Given the description of an element on the screen output the (x, y) to click on. 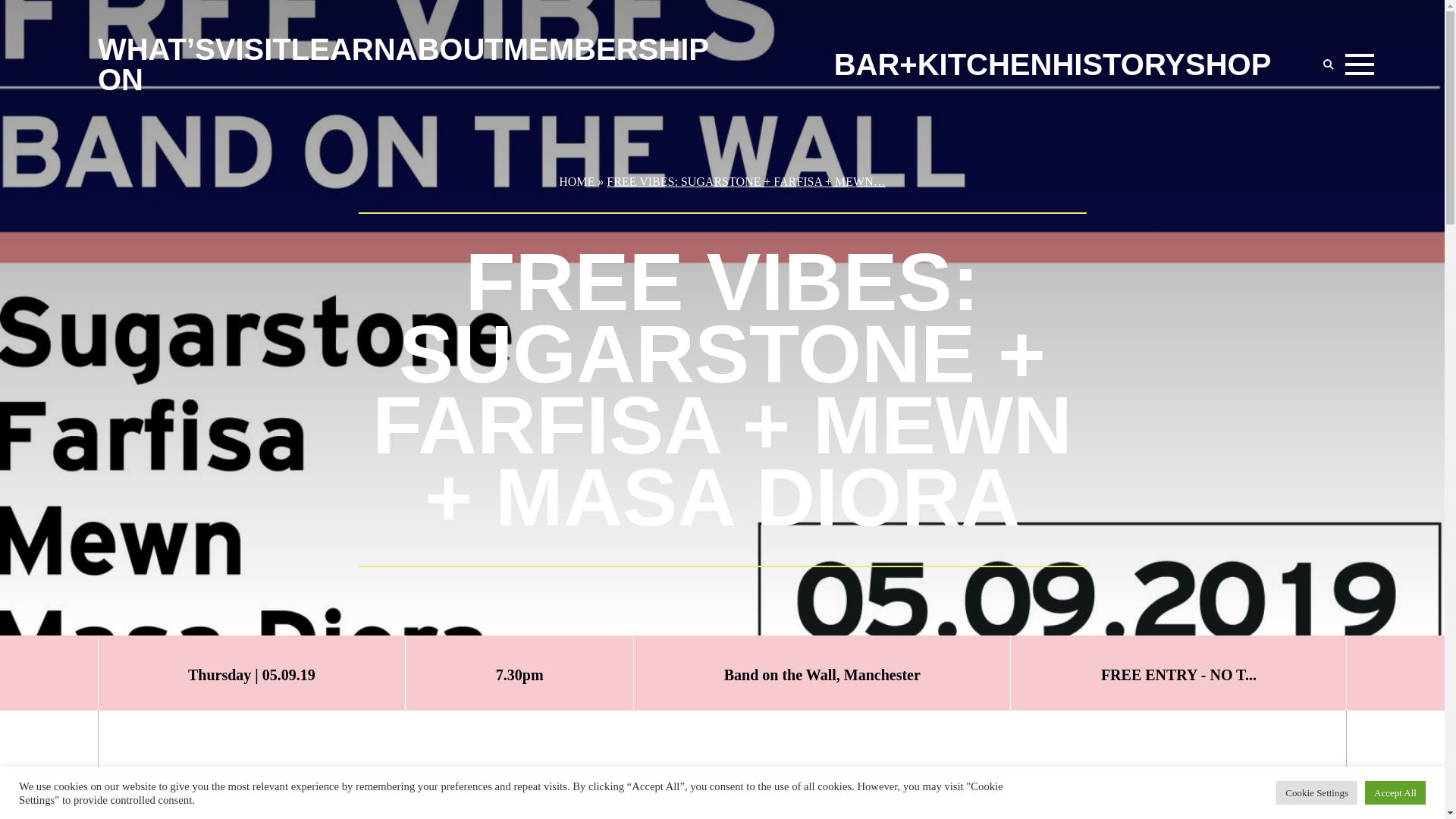
HISTORY (1118, 64)
ABOUT (449, 49)
MEMBERSHIP (606, 49)
VISIT (253, 49)
LEARN (343, 49)
SHOP (1228, 64)
